Given the description of an element on the screen output the (x, y) to click on. 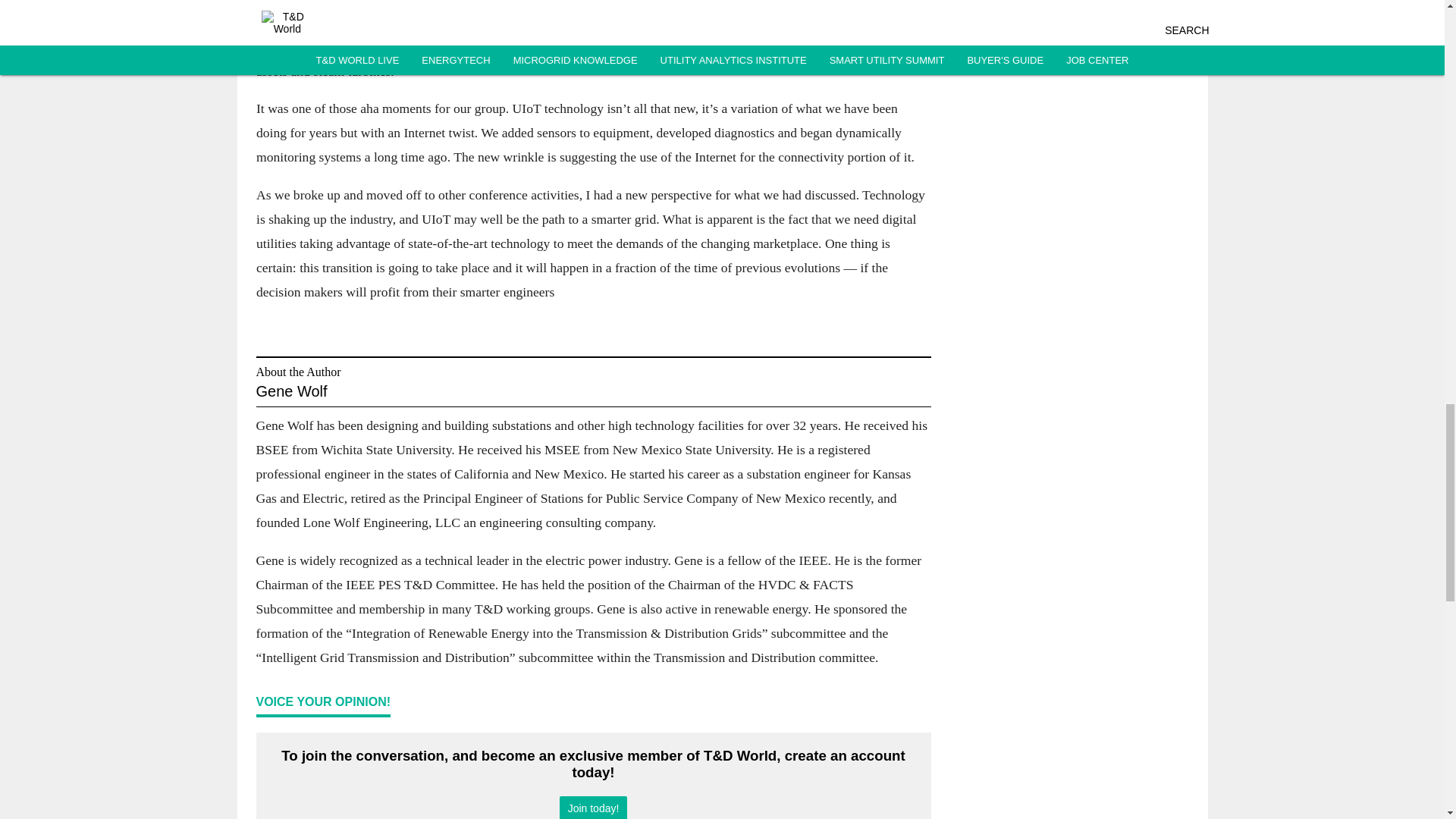
Join today! (593, 807)
